Given the description of an element on the screen output the (x, y) to click on. 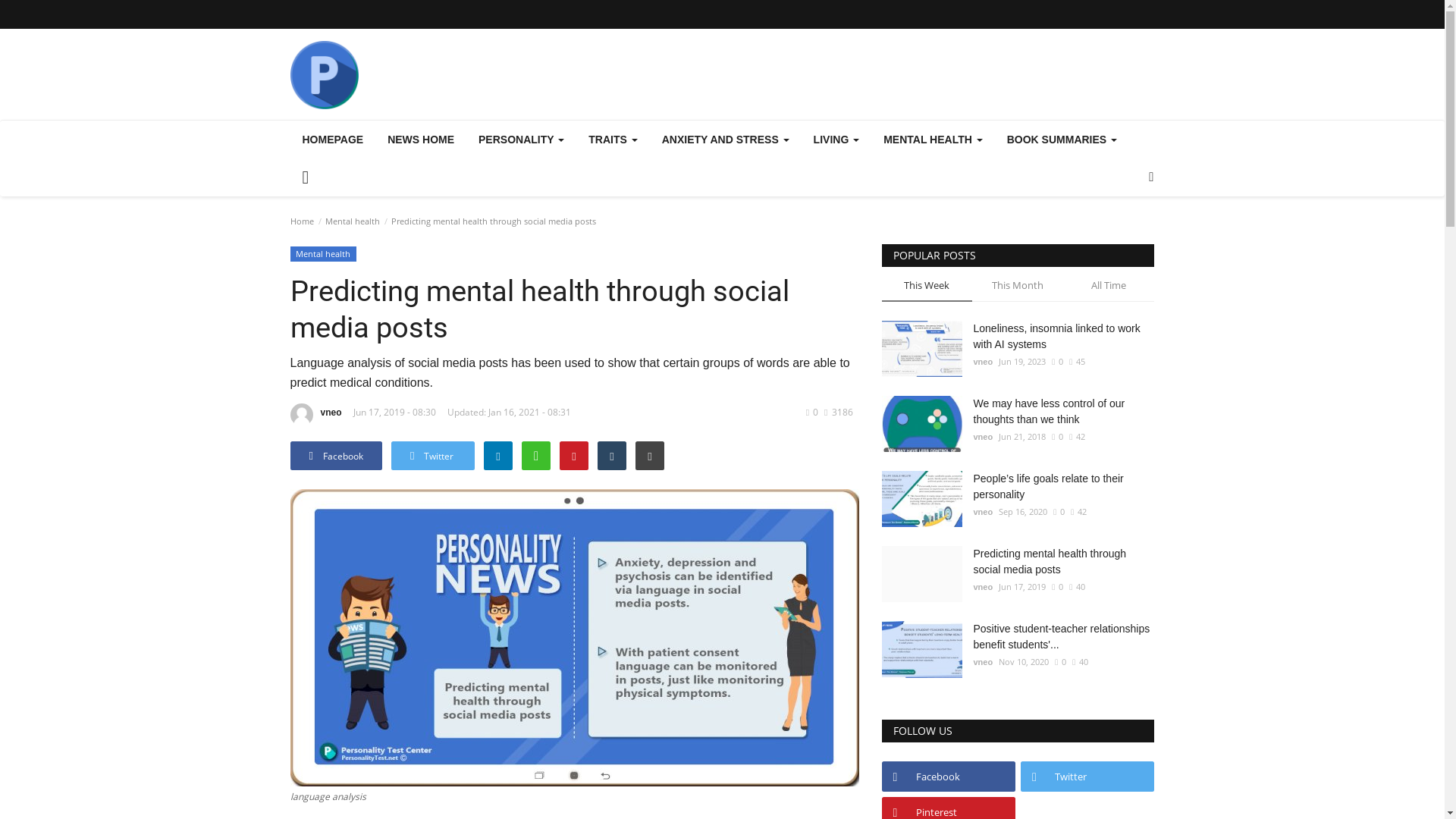
PERSONALITY (520, 139)
HOMEPAGE (332, 139)
TRAITS (612, 139)
NEWS HOME (420, 139)
